Given the description of an element on the screen output the (x, y) to click on. 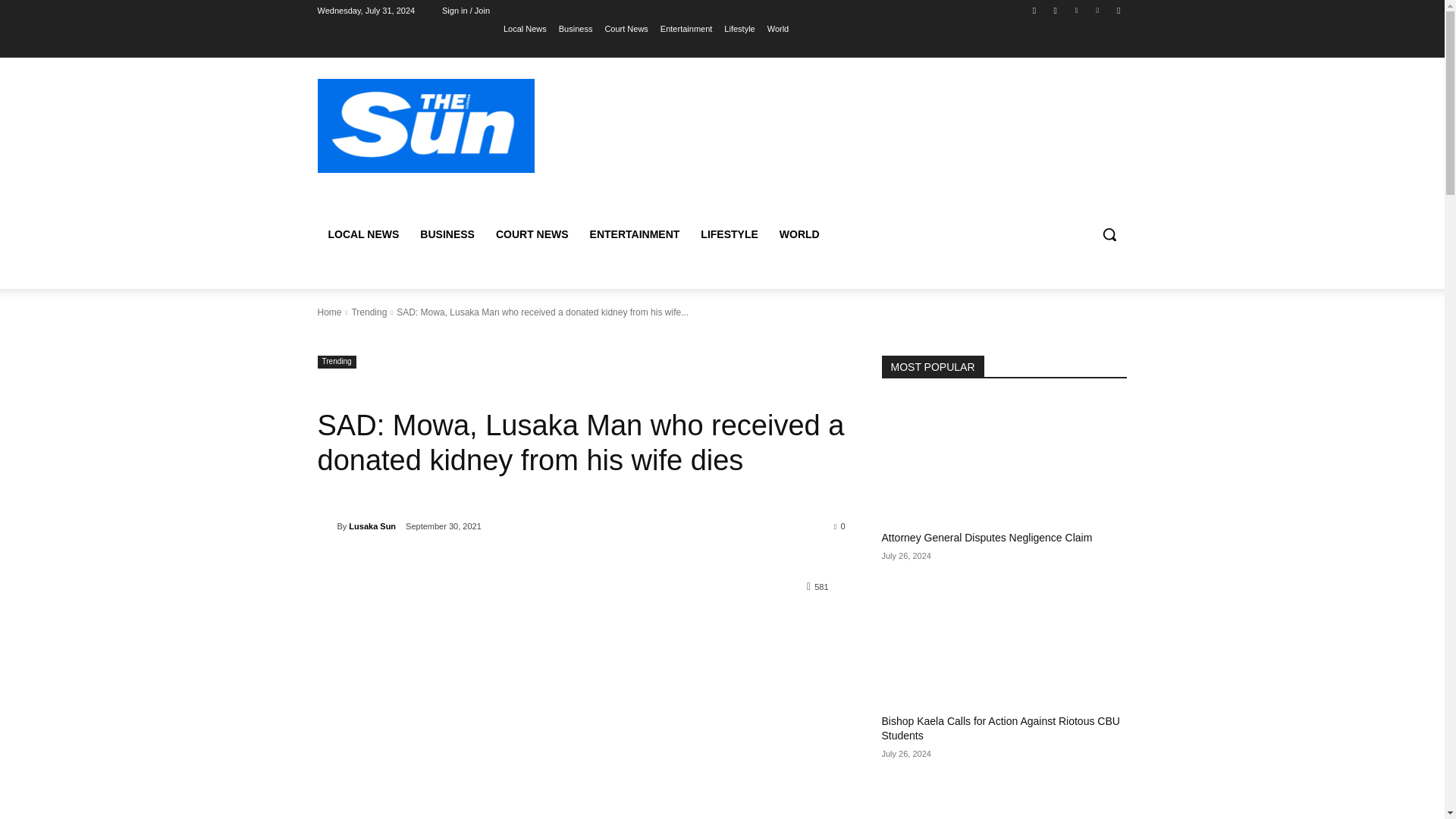
Lusaka Sun (326, 525)
WORLD (798, 234)
COURT NEWS (531, 234)
Entertainment (686, 28)
View all posts in Trending (368, 312)
Lifestyle (738, 28)
Business (575, 28)
Court News (625, 28)
Local News (525, 28)
Instagram (1055, 9)
LOCAL NEWS (363, 234)
Home (328, 312)
ENTERTAINMENT (634, 234)
Vimeo (1097, 9)
Trending (368, 312)
